Given the description of an element on the screen output the (x, y) to click on. 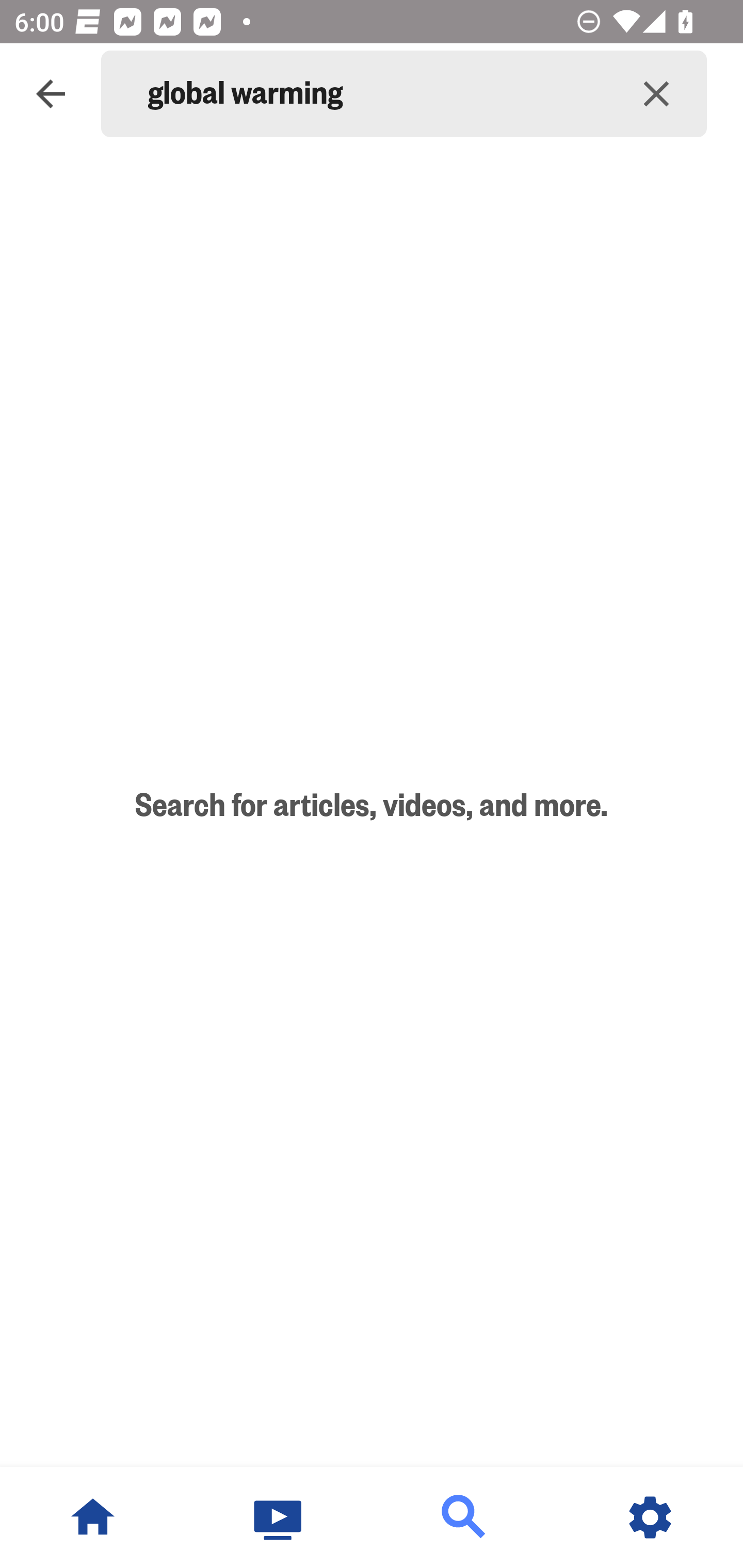
Navigate up (50, 93)
Clear query (656, 93)
global warming (376, 94)
NBC News Home (92, 1517)
Watch (278, 1517)
Settings (650, 1517)
